Given the description of an element on the screen output the (x, y) to click on. 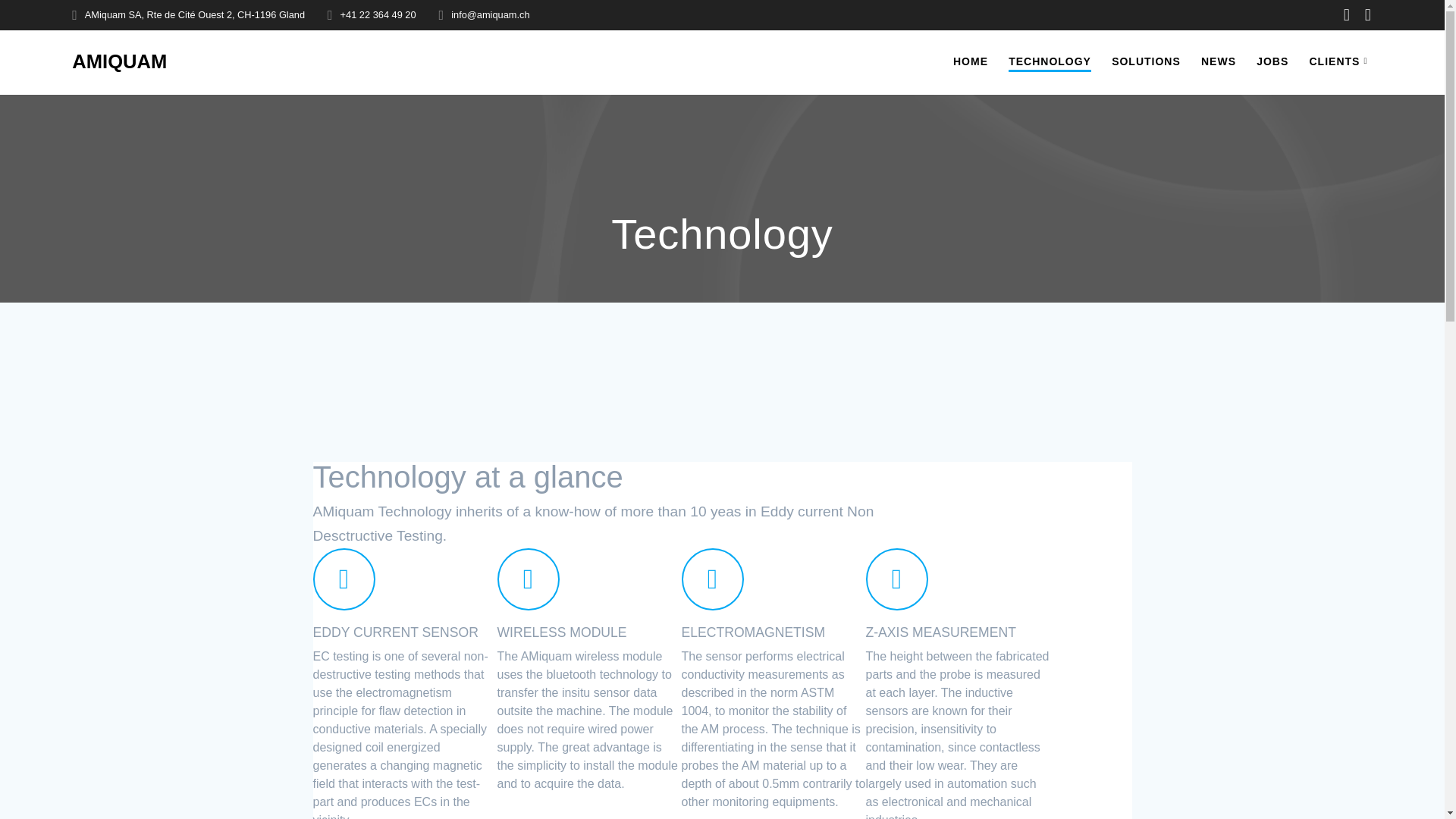
CLIENTS (1340, 61)
TECHNOLOGY (1049, 62)
NEWS (1218, 61)
AMIQUAM (119, 62)
JOBS (1272, 61)
HOME (970, 61)
SOLUTIONS (1146, 61)
